Given the description of an element on the screen output the (x, y) to click on. 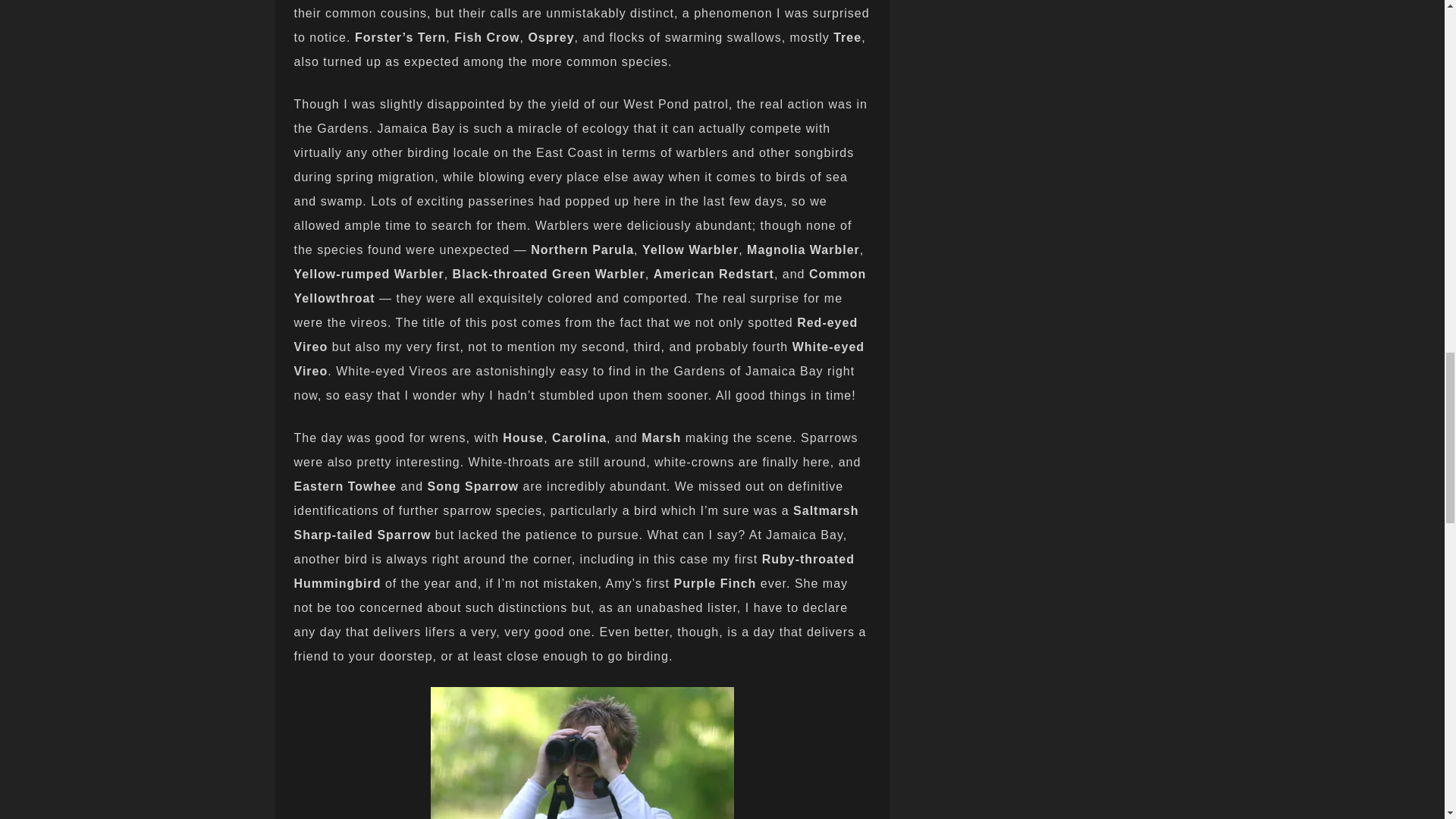
Amy Hooper (581, 753)
